Given the description of an element on the screen output the (x, y) to click on. 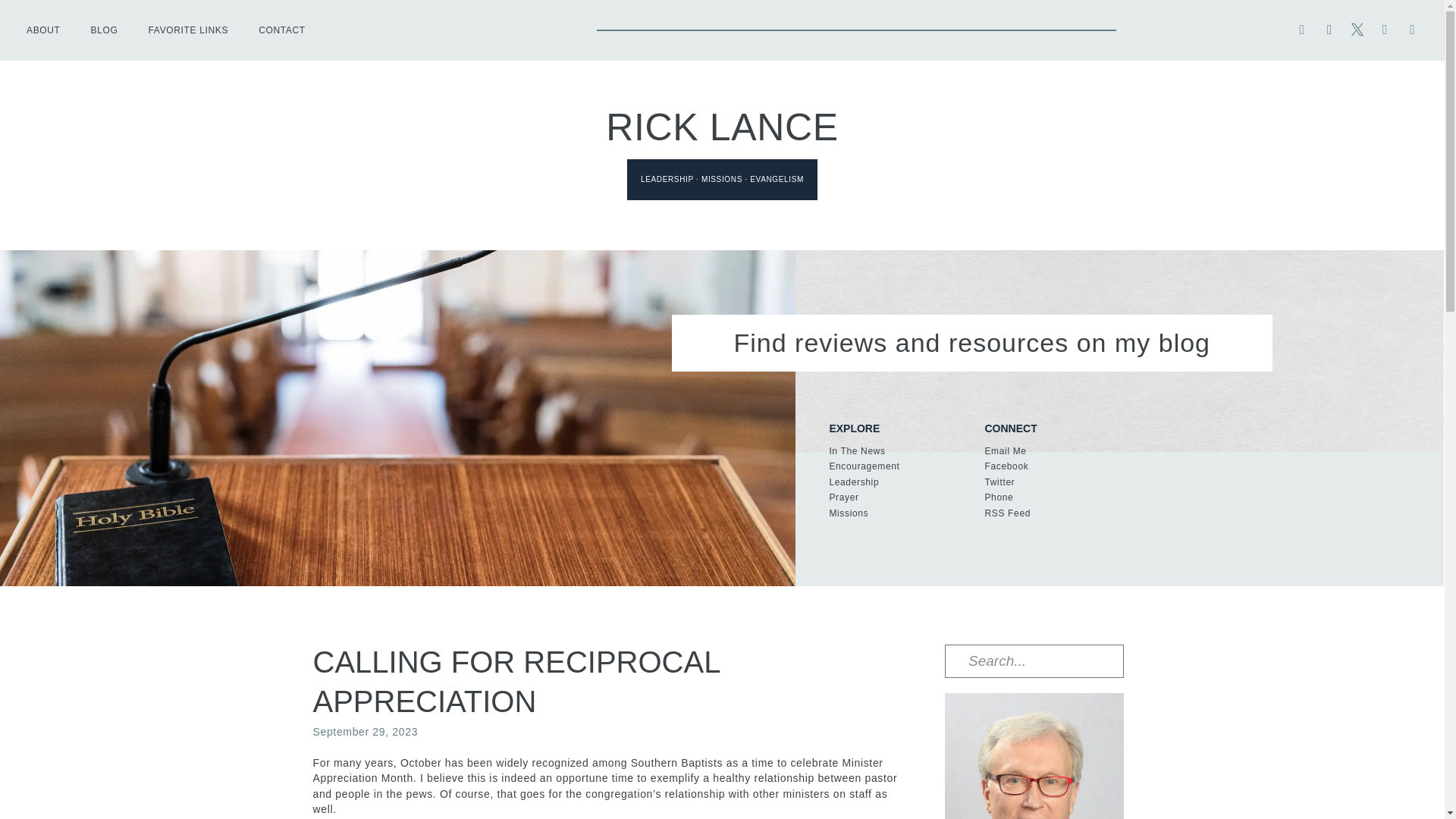
Prayer (898, 497)
Twitter (1209, 482)
Missions (898, 513)
FAVORITE LINKS (188, 30)
Email Me (1209, 451)
BLOG (104, 30)
Facebook (1209, 466)
Phone (1209, 497)
RICK LANCE (721, 127)
RSS Feed (1209, 513)
